Given the description of an element on the screen output the (x, y) to click on. 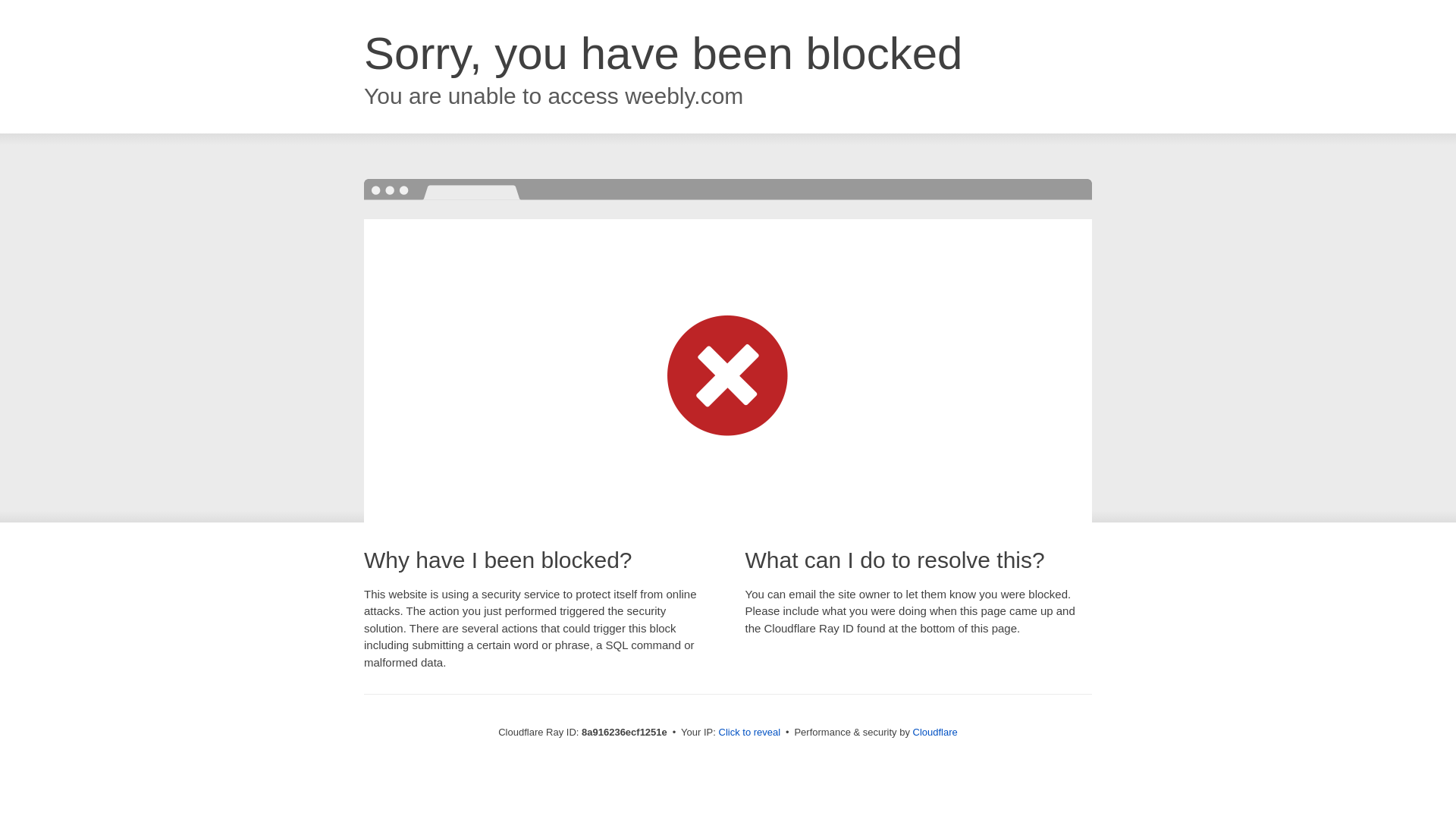
Cloudflare (935, 731)
Click to reveal (749, 732)
